Given the description of an element on the screen output the (x, y) to click on. 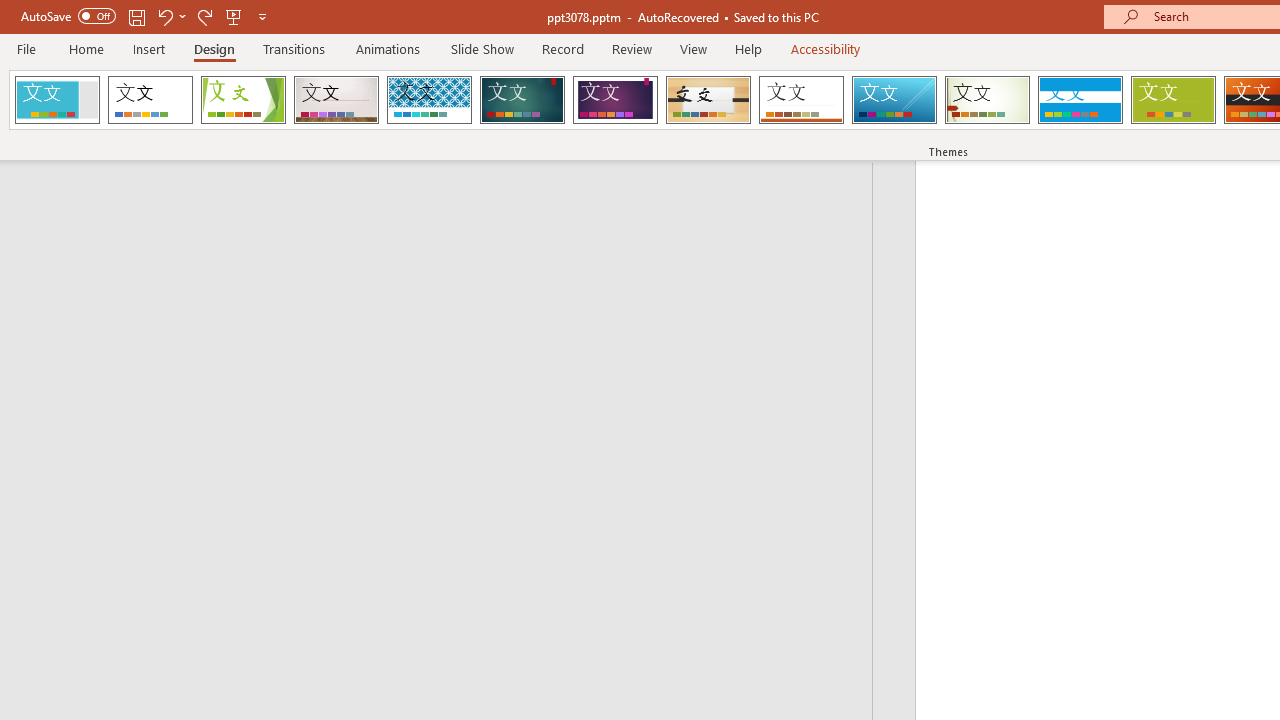
Ion Boardroom (615, 100)
Frame (57, 100)
Wisp (987, 100)
Ion (522, 100)
Retrospect (801, 100)
